Given the description of an element on the screen output the (x, y) to click on. 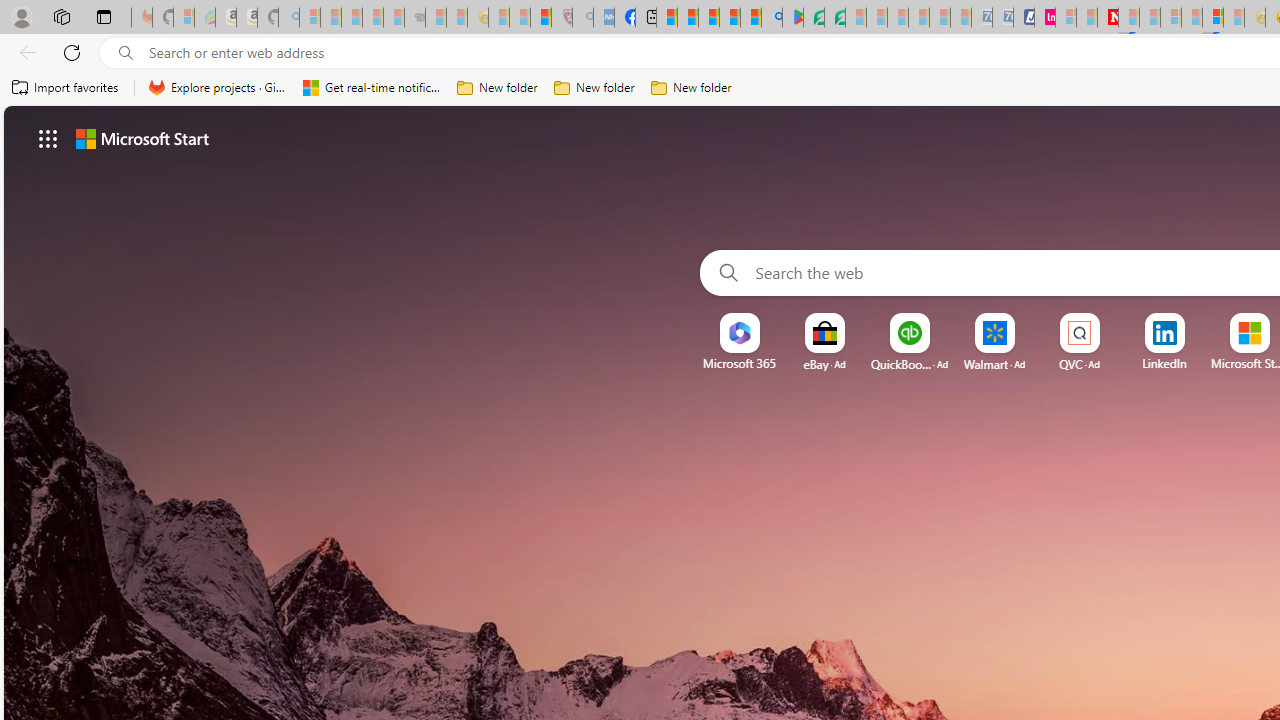
Pets - MSN (729, 17)
Bluey: Let's Play! - Apps on Google Play (792, 17)
